Given the description of an element on the screen output the (x, y) to click on. 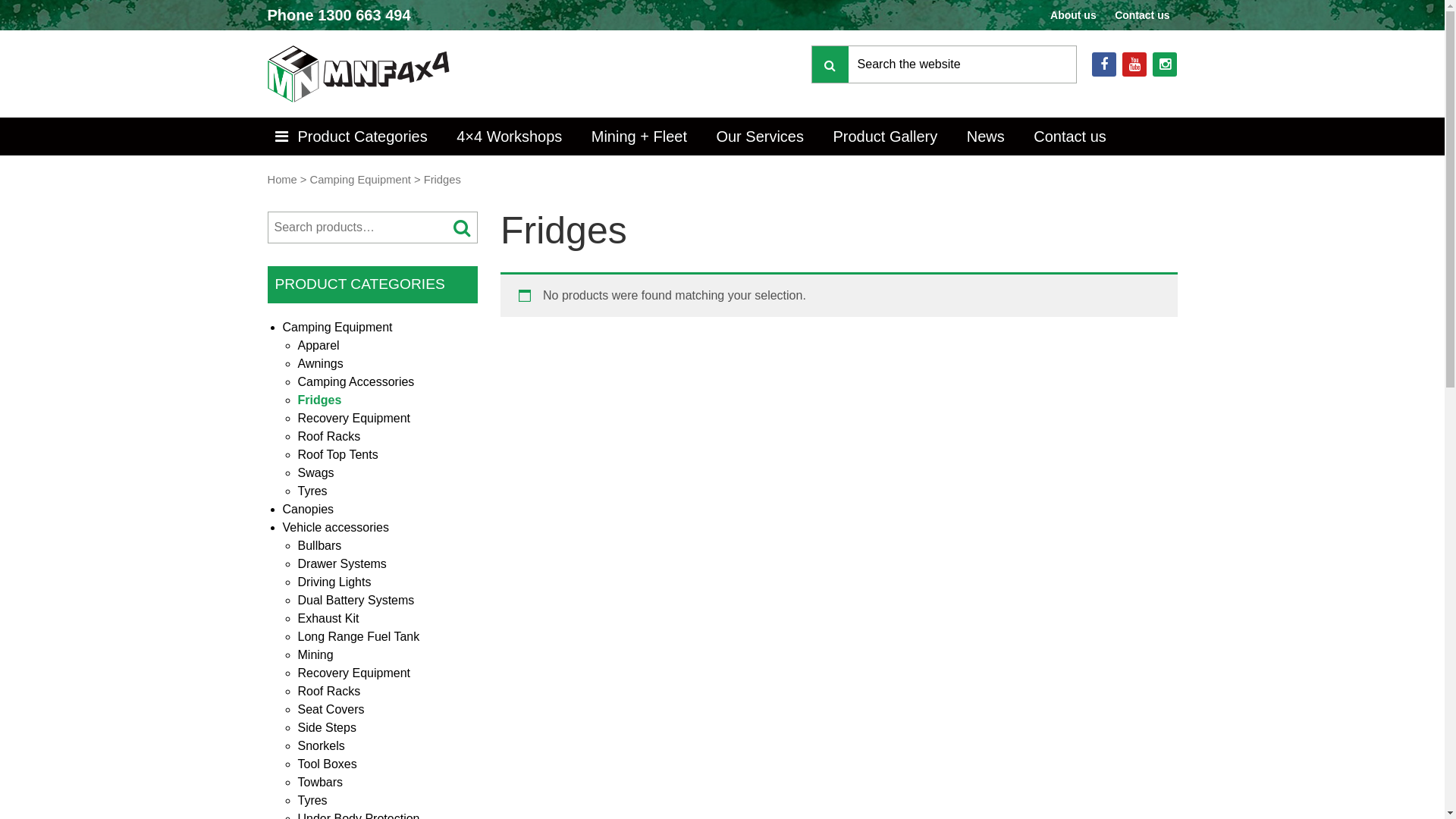
Bullbars Element type: text (319, 545)
Seat Covers Element type: text (330, 708)
Drawer Systems Element type: text (341, 563)
Vehicle accessories Element type: text (335, 526)
Search Element type: text (461, 227)
Roof Racks Element type: text (328, 690)
Apparel Element type: text (317, 344)
Contact us Element type: text (1141, 15)
Recovery Equipment Element type: text (353, 672)
Camping Equipment Element type: text (360, 179)
Swags Element type: text (315, 472)
Awnings Element type: text (319, 363)
Tool Boxes Element type: text (326, 763)
Canopies Element type: text (307, 508)
About us Element type: text (1073, 15)
Tyres Element type: text (311, 799)
Product Categories Element type: text (352, 136)
Instagram Element type: hover (1164, 64)
Facebook Element type: hover (1104, 64)
Snorkels Element type: text (320, 745)
Tyres Element type: text (311, 490)
Fridges Element type: text (319, 399)
Roof Racks Element type: text (328, 435)
Exhaust Kit Element type: text (327, 617)
Side Steps Element type: text (326, 727)
Driving Lights Element type: text (333, 581)
Home Element type: text (281, 179)
Mining + Fleet Element type: text (638, 136)
Product Gallery Element type: text (884, 136)
Contact us Element type: text (1069, 136)
Roof Top Tents Element type: text (337, 454)
Recovery Equipment Element type: text (353, 417)
Camping Equipment Element type: text (337, 326)
1300 663 494 Element type: text (363, 14)
Youtube Element type: hover (1134, 64)
Dual Battery Systems Element type: text (355, 599)
Mining Element type: text (314, 654)
Towbars Element type: text (319, 781)
Our Services Element type: text (759, 136)
News Element type: text (985, 136)
Long Range Fuel Tank Element type: text (358, 636)
Camping Accessories Element type: text (355, 381)
